Given the description of an element on the screen output the (x, y) to click on. 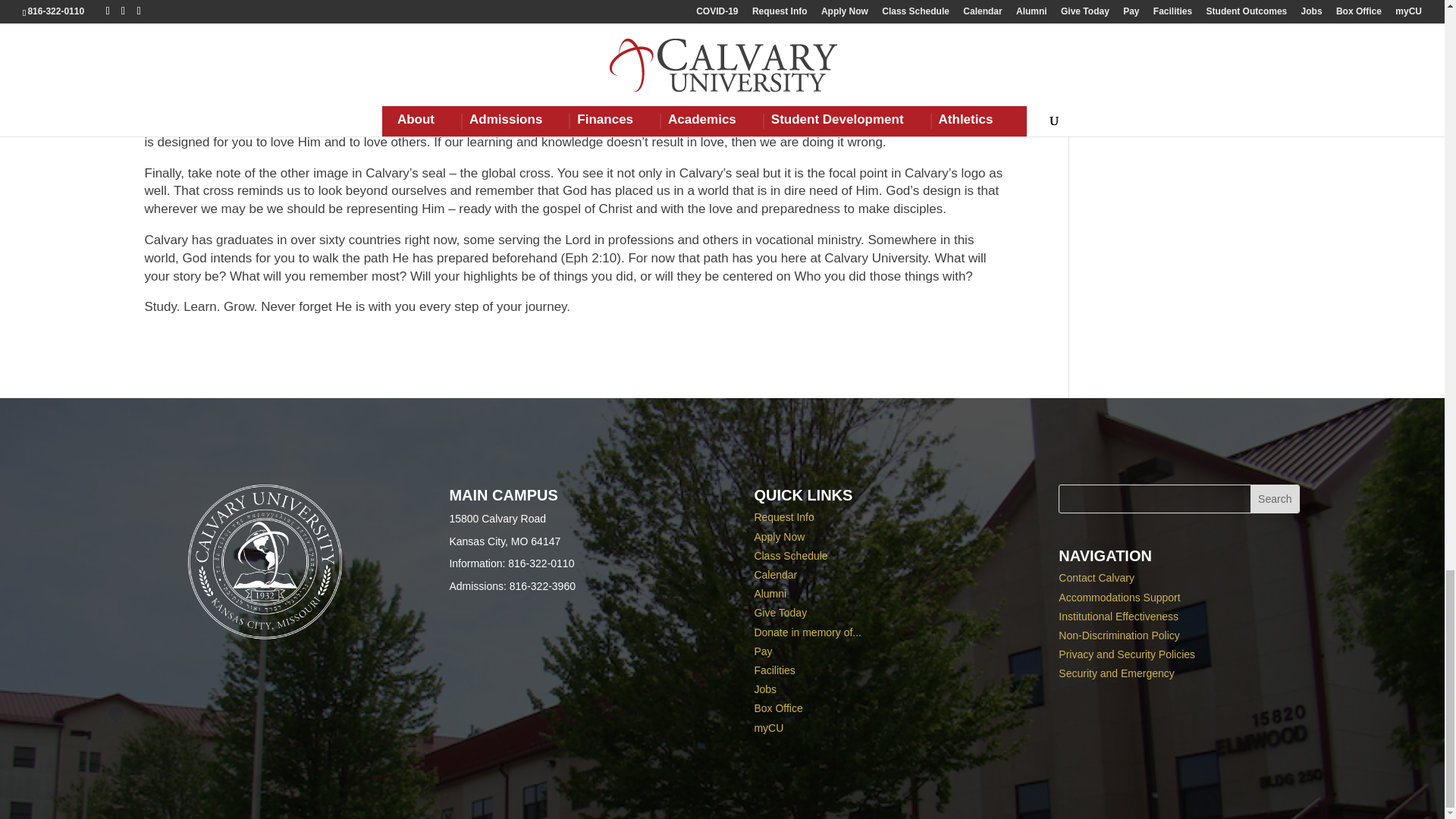
Search (1274, 498)
CU-Seal white (264, 561)
Search (1274, 498)
